Given the description of an element on the screen output the (x, y) to click on. 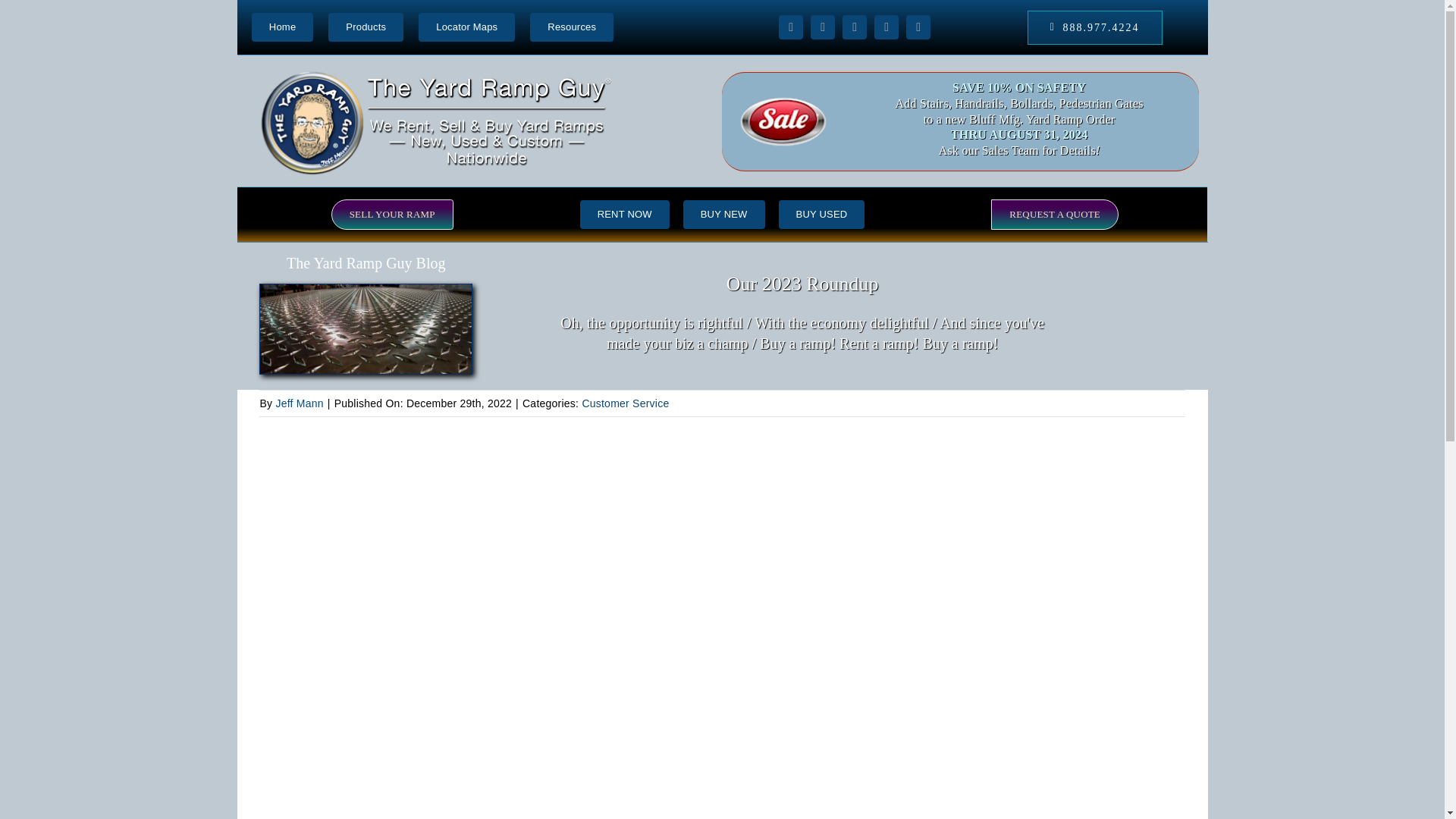
Home (282, 27)
YouTube (854, 27)
LinkedIn (917, 27)
Posts by Jeff Mann (299, 403)
Facebook (790, 27)
Resources (570, 27)
Email (886, 27)
X (822, 27)
Products (366, 27)
sale2024m (783, 121)
Locator Maps (721, 27)
